Given the description of an element on the screen output the (x, y) to click on. 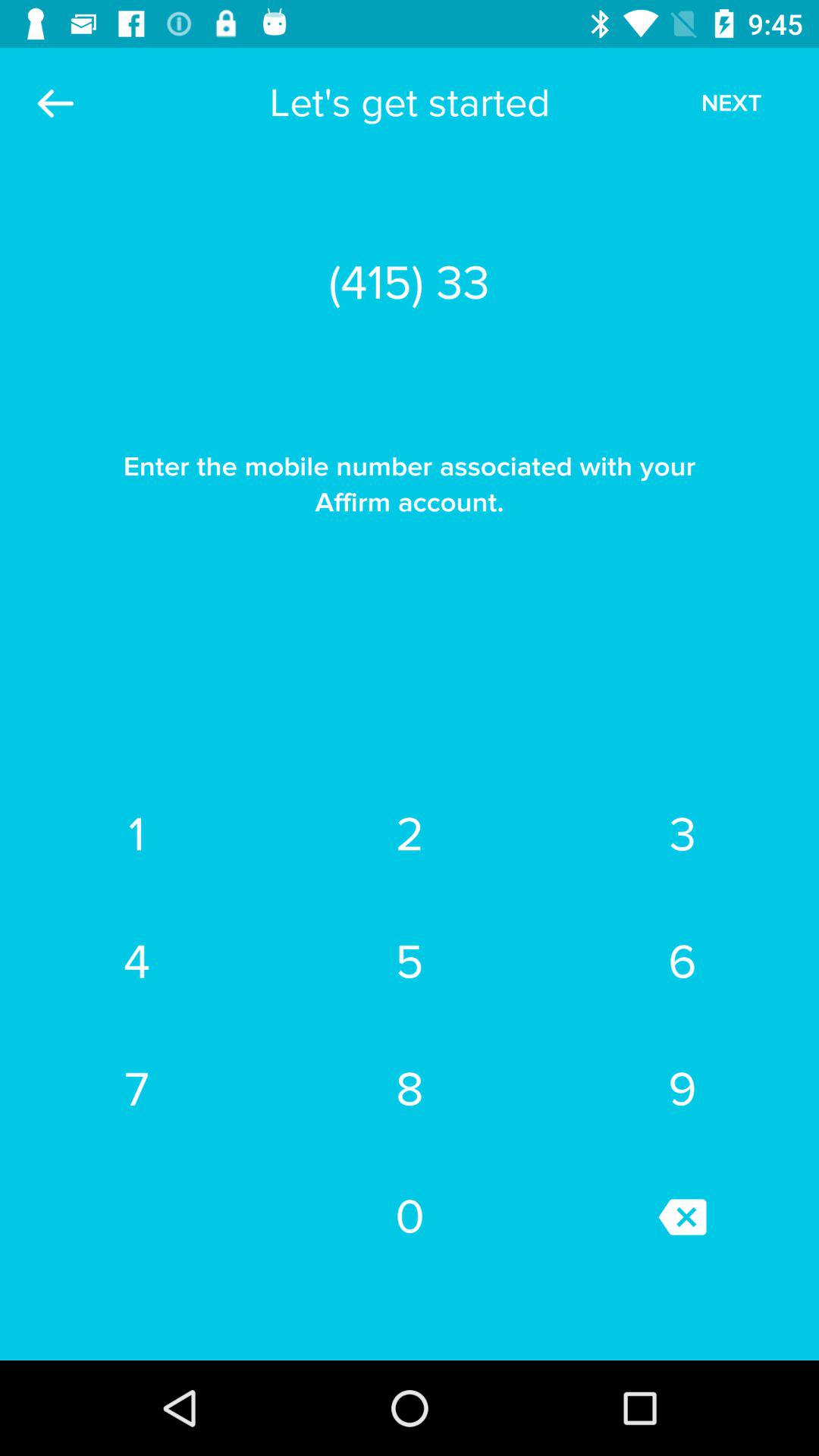
turn on item next to the 1 item (409, 834)
